Given the description of an element on the screen output the (x, y) to click on. 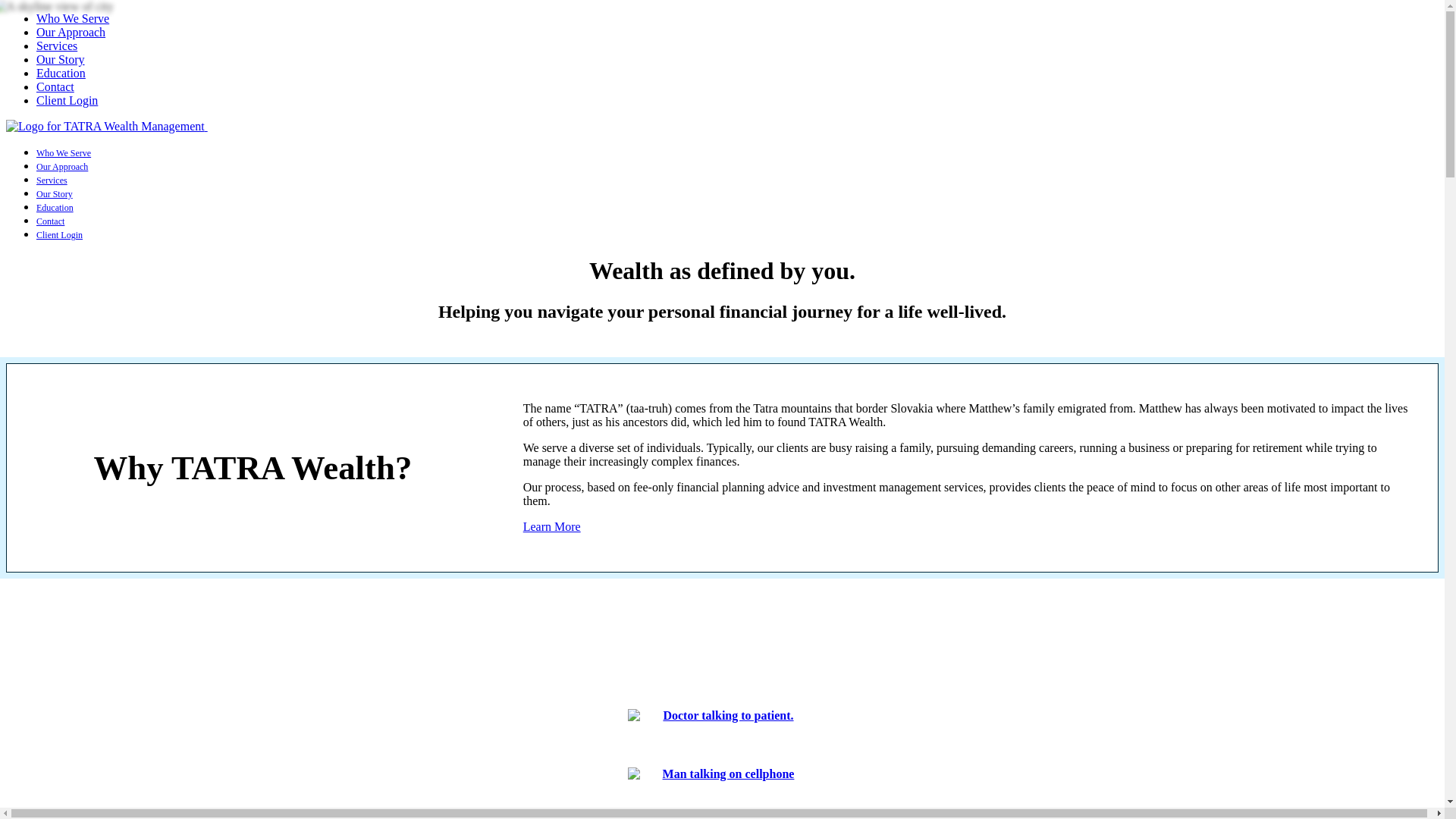
Client Login (66, 100)
Education (60, 72)
Services (56, 45)
Education (55, 207)
Our Approach (61, 166)
Client Login (59, 235)
Learn More (551, 526)
Our Approach (70, 31)
Who We Serve (63, 153)
Contact (55, 86)
Our Story (54, 194)
Our Story (60, 59)
Who We Serve (72, 18)
Services (51, 180)
Contact (50, 221)
